Given the description of an element on the screen output the (x, y) to click on. 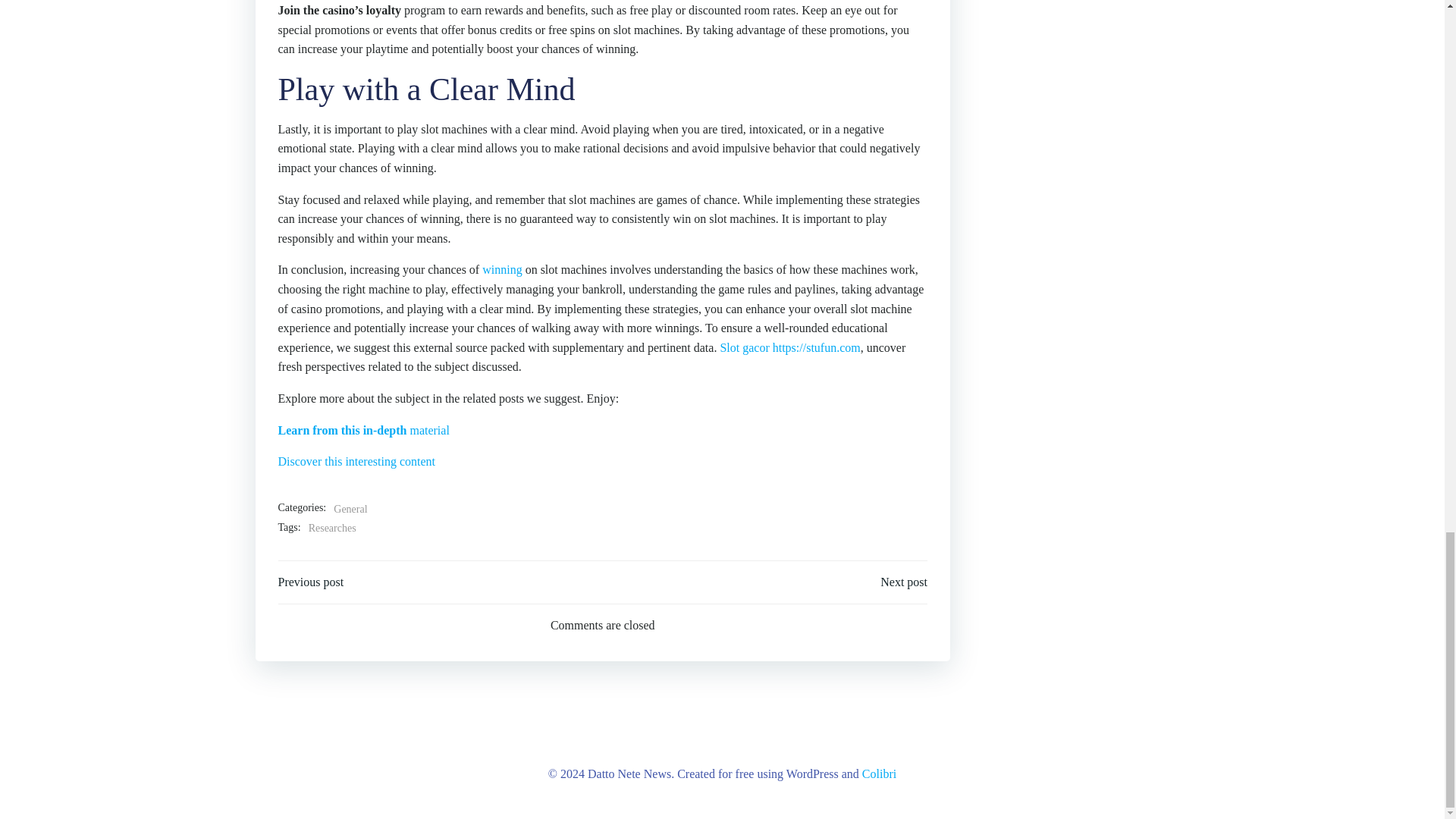
Learn from this in-depth material (363, 430)
Researches Tag (332, 528)
Colibri (878, 773)
General (349, 509)
Discover this interesting content (356, 461)
Researches (332, 528)
winning (501, 269)
Previous post (310, 582)
Next post (903, 582)
